Given the description of an element on the screen output the (x, y) to click on. 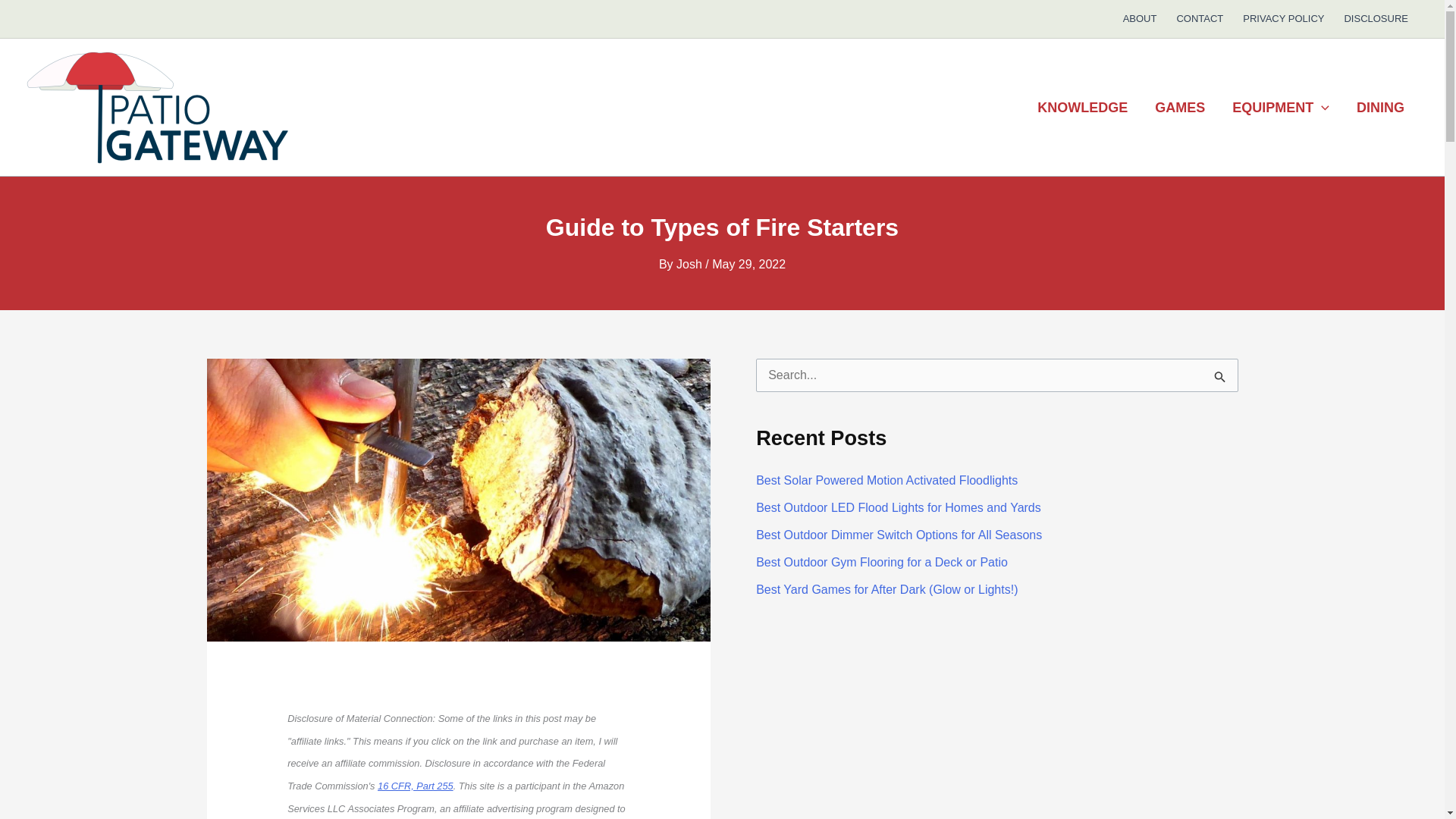
DISCLOSURE (1375, 18)
CONTACT (1199, 18)
View all posts by Josh (690, 264)
EQUIPMENT (1280, 107)
GAMES (1179, 107)
PRIVACY POLICY (1283, 18)
KNOWLEDGE (1082, 107)
DINING (1380, 107)
ABOUT (1140, 18)
